Given the description of an element on the screen output the (x, y) to click on. 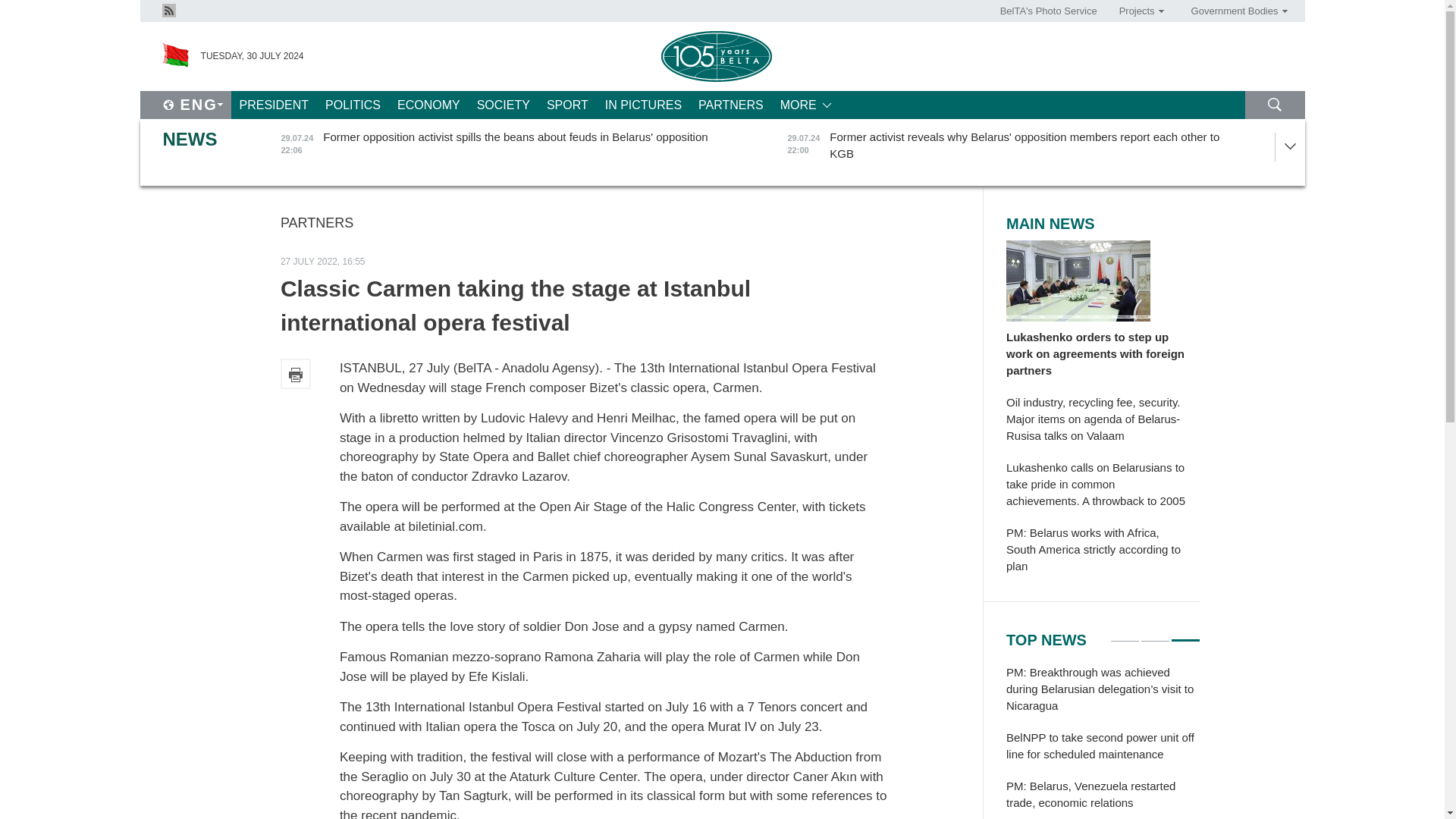
BelTA's Photo Service (1048, 11)
Rss (168, 10)
BelTA's Photo Service (1048, 11)
Projects (1136, 11)
Projects (1136, 11)
Government Bodies (1233, 11)
Rss (167, 9)
Government Bodies (1233, 11)
